Given the description of an element on the screen output the (x, y) to click on. 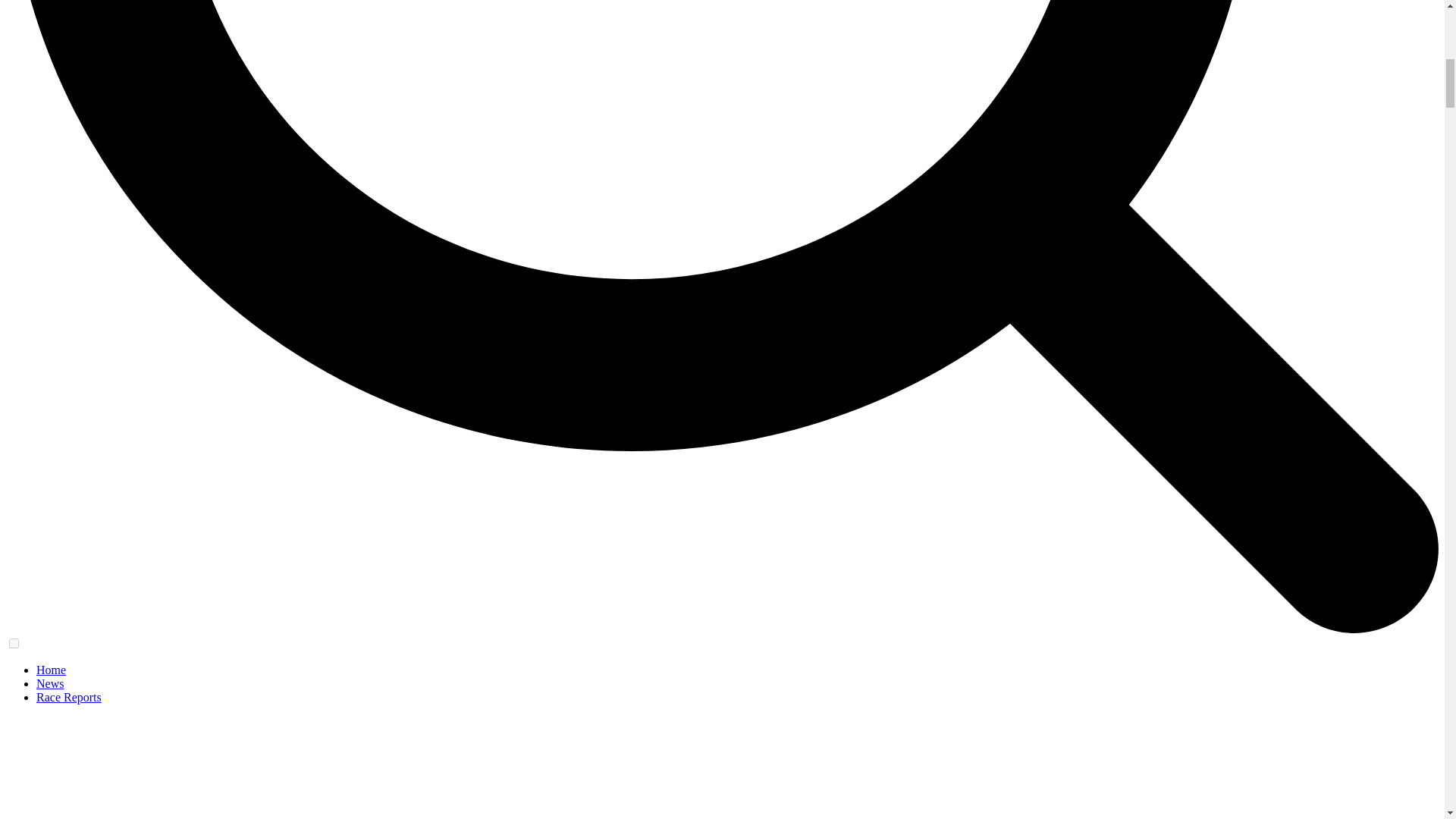
Home (50, 669)
News (50, 683)
on (13, 643)
Race Reports (68, 697)
